Given the description of an element on the screen output the (x, y) to click on. 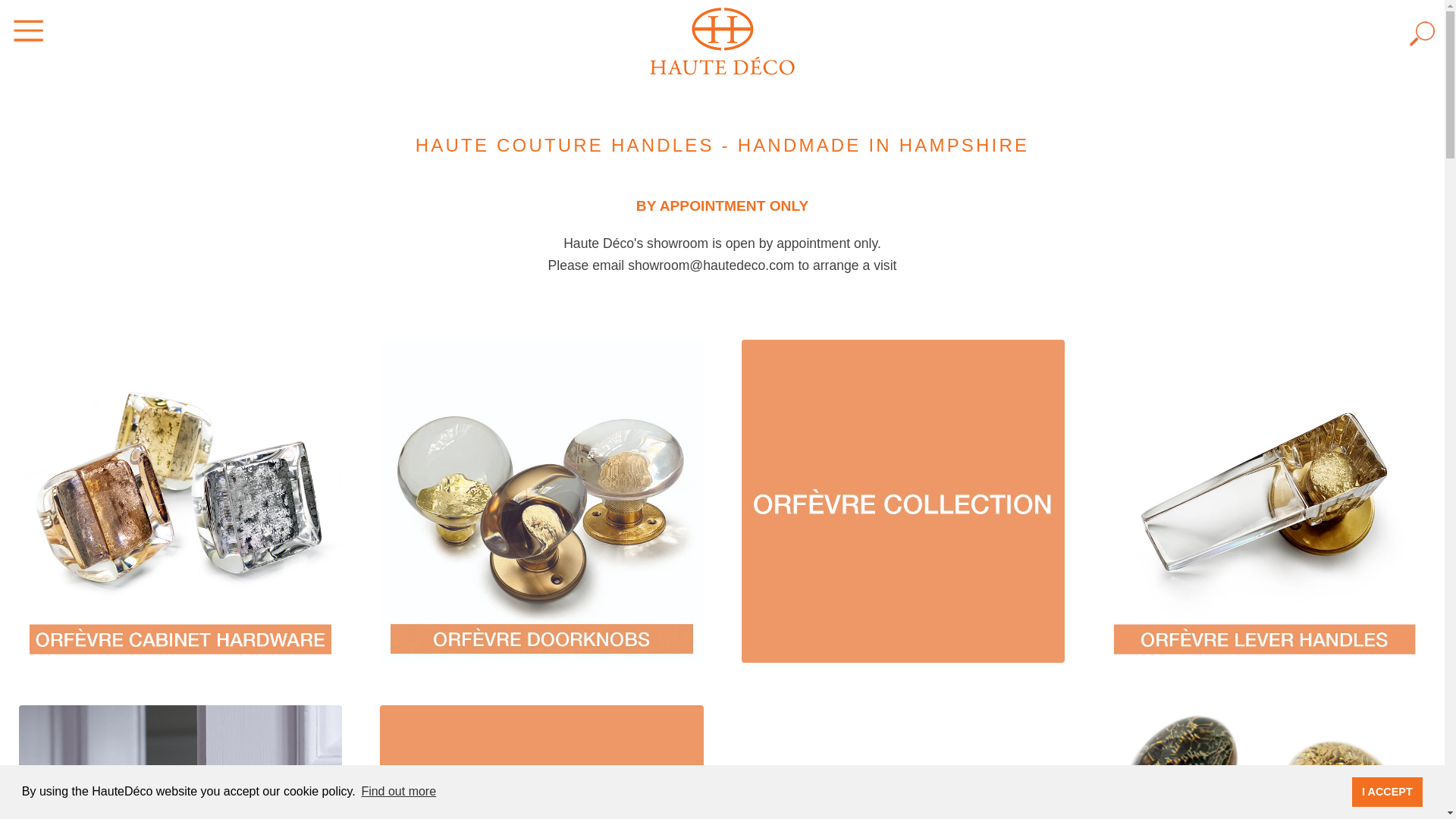
Find out more (398, 791)
I ACCEPT (1387, 791)
